Given the description of an element on the screen output the (x, y) to click on. 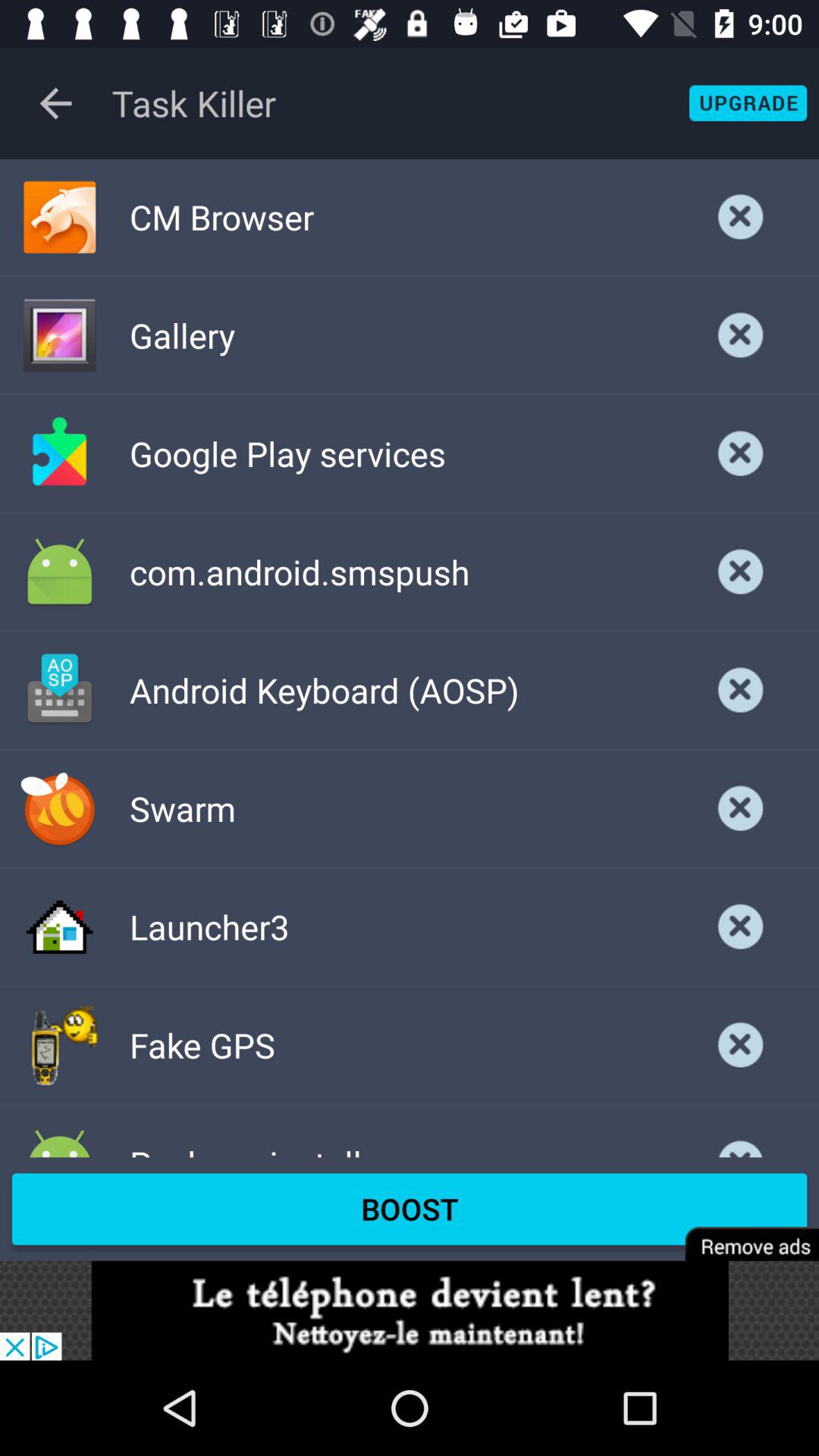
exit swarm (740, 808)
